Given the description of an element on the screen output the (x, y) to click on. 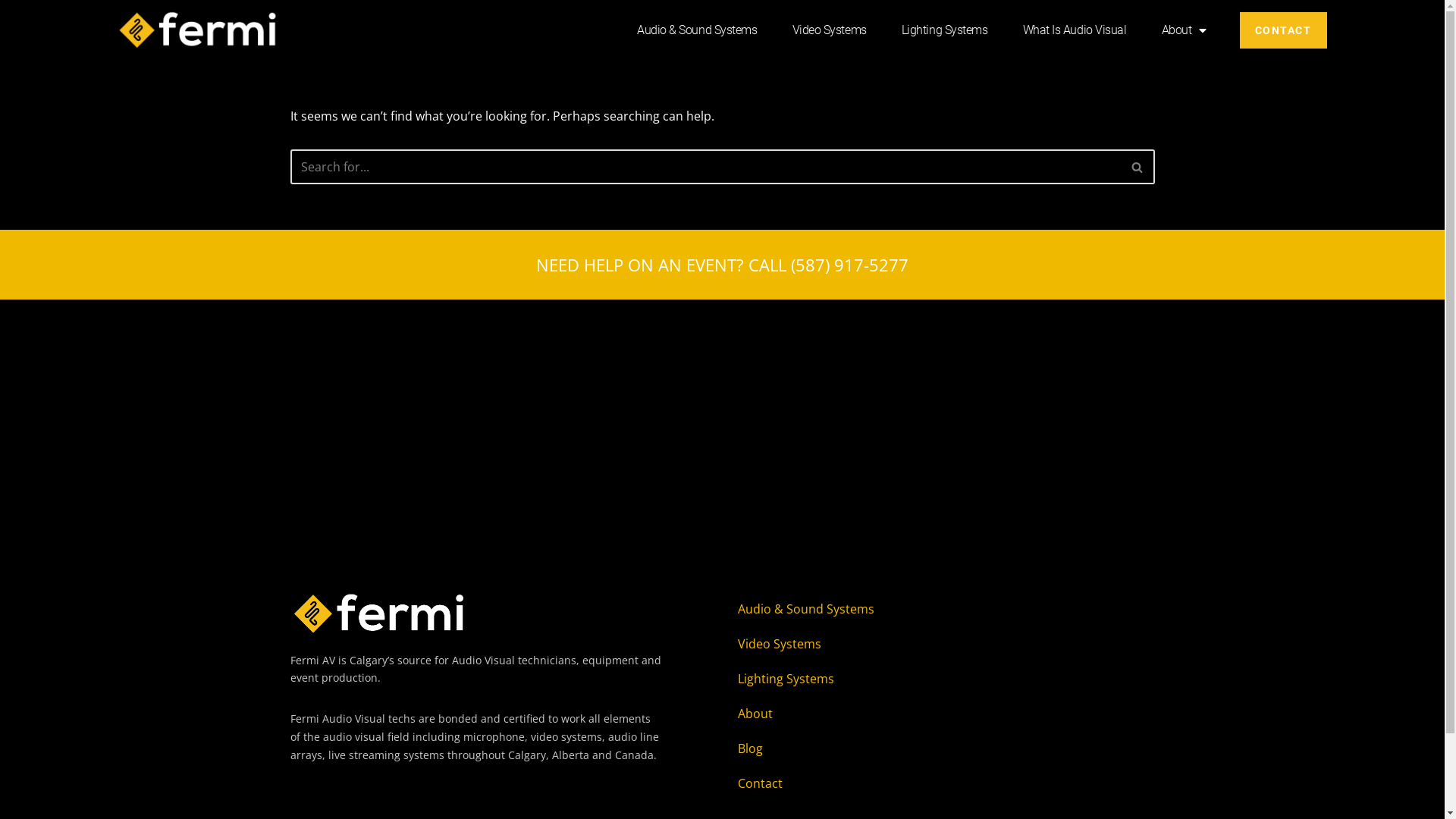
NEED HELP ON AN EVENT? CALL (587) 917-5277 Element type: text (722, 264)
Video Systems Element type: text (907, 643)
Contact Element type: text (907, 782)
Blog Element type: text (907, 748)
Audio & Sound Systems Element type: text (907, 608)
Audio & Sound Systems Element type: text (696, 30)
Skip to content Element type: text (11, 31)
CONTACT Element type: text (1283, 30)
About Element type: text (907, 713)
Lighting Systems Element type: text (907, 678)
Lighting Systems Element type: text (944, 30)
About Element type: text (1183, 30)
What Is Audio Visual Element type: text (1074, 30)
fermi audio visual 7845 flint rd se Element type: hover (721, 413)
Video Systems Element type: text (829, 30)
